Given the description of an element on the screen output the (x, y) to click on. 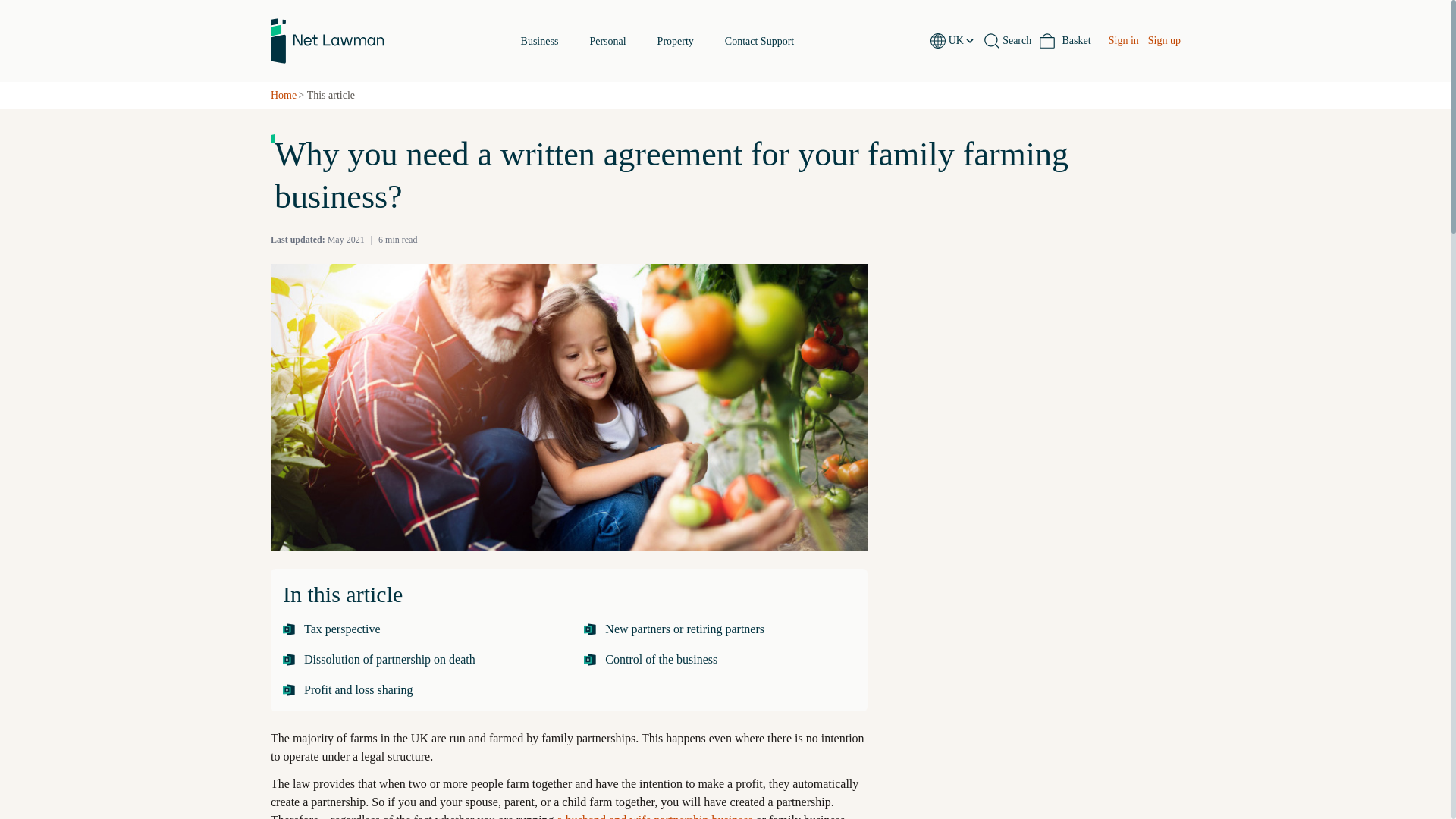
Sign up (1164, 40)
Contact Support (759, 41)
Basket (1064, 40)
UK (962, 40)
Business (540, 41)
Control of the business (718, 659)
Dissolution of partnership on death (417, 659)
Search (1007, 40)
Tax perspective (417, 628)
Personal (607, 41)
